Given the description of an element on the screen output the (x, y) to click on. 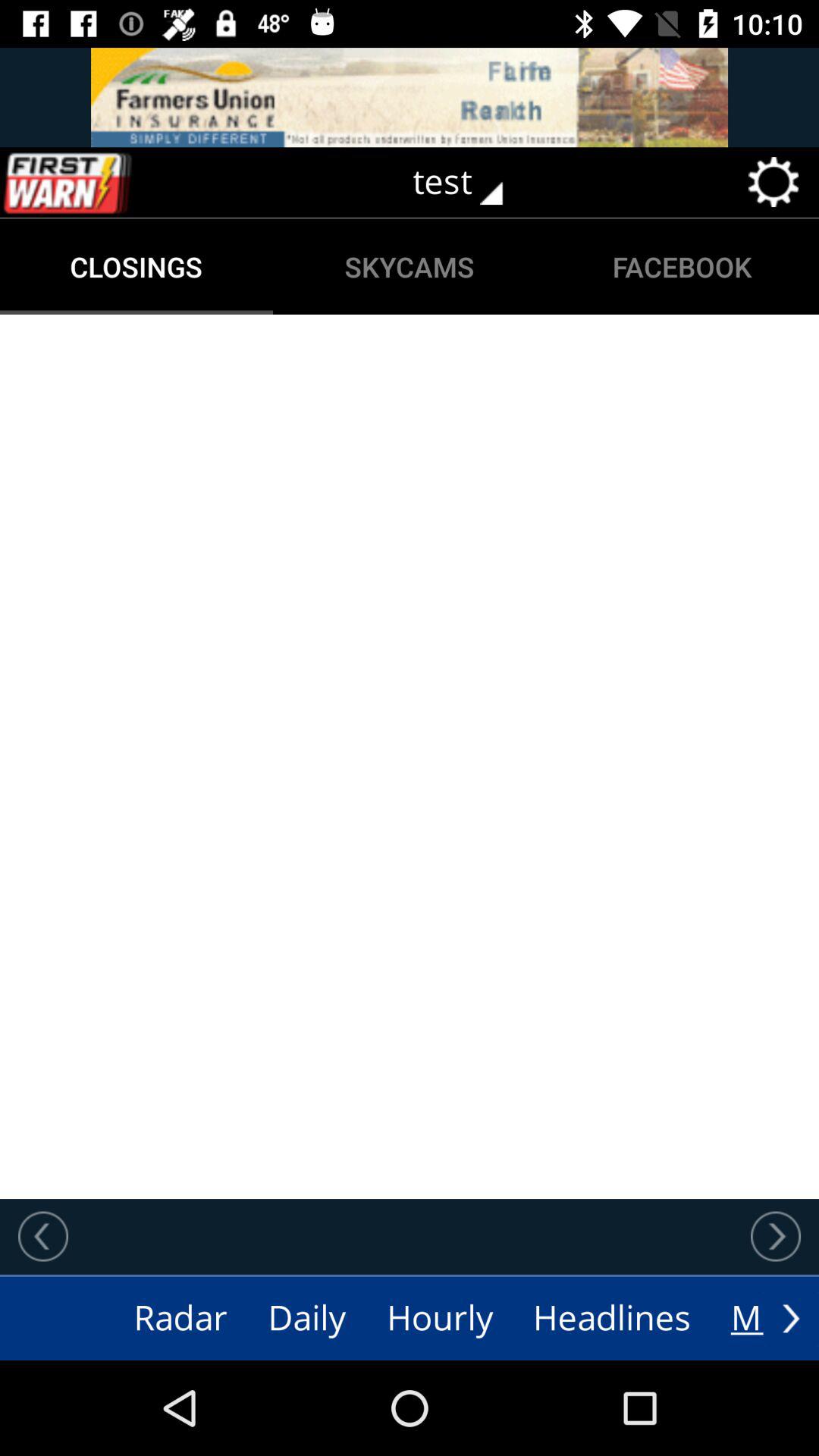
launch item next to the test (99, 182)
